Given the description of an element on the screen output the (x, y) to click on. 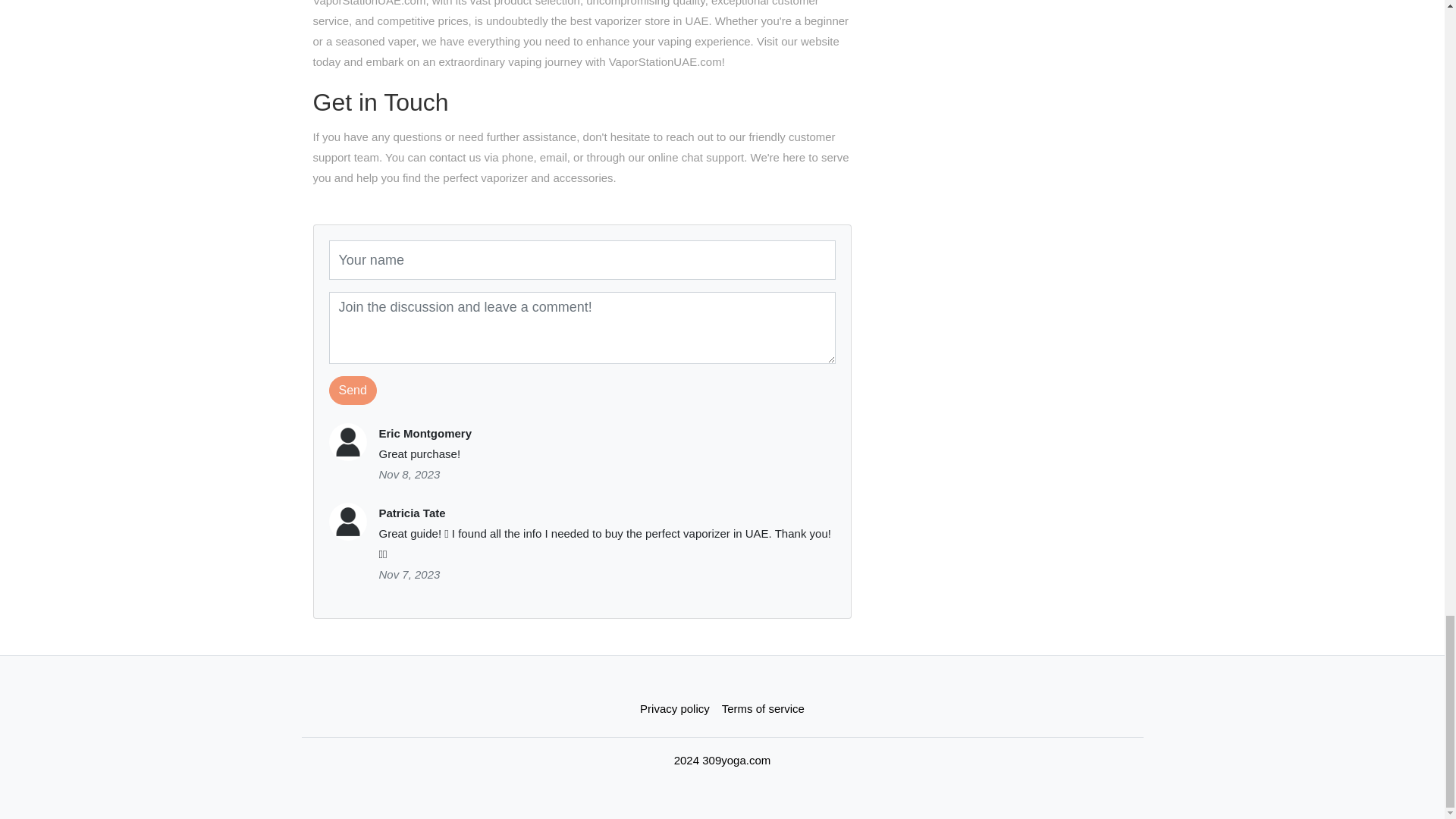
Privacy policy (674, 708)
Send (353, 389)
Terms of service (763, 708)
Send (353, 389)
